Given the description of an element on the screen output the (x, y) to click on. 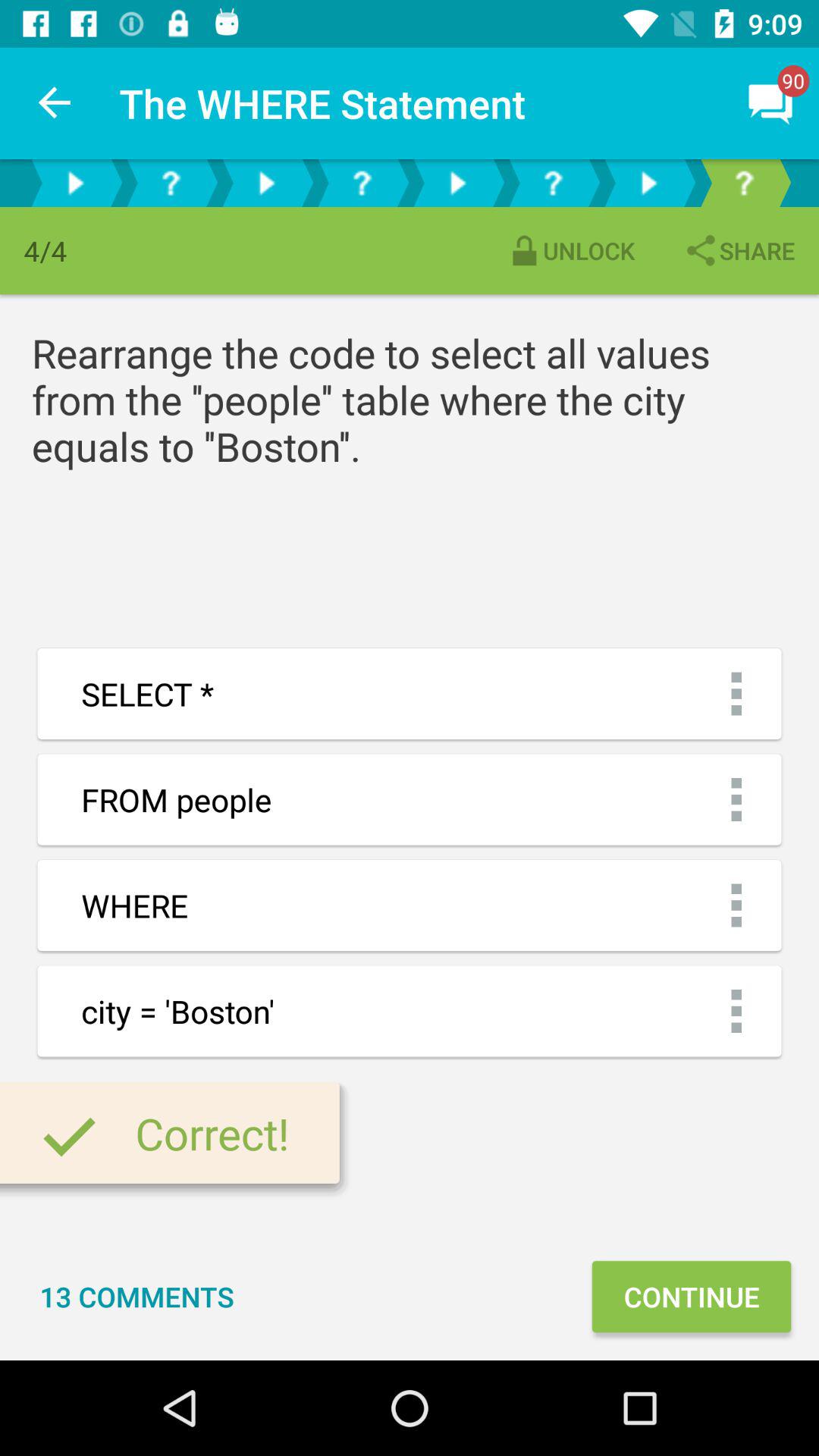
move to next question (457, 183)
